Given the description of an element on the screen output the (x, y) to click on. 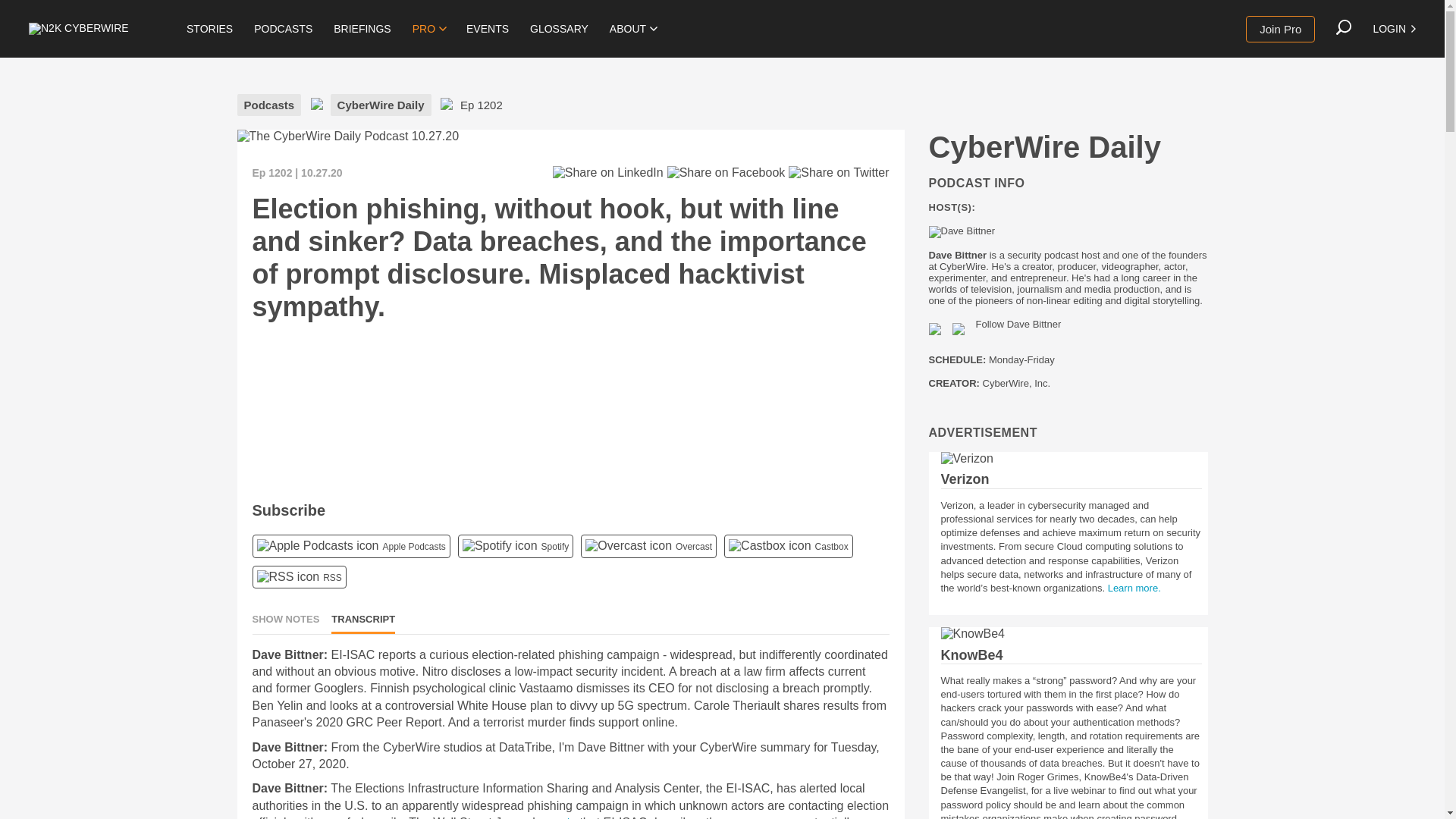
Apple Podcasts (317, 545)
GLOSSARY (558, 28)
Megaphone audio player. (478, 410)
Join Pro (1280, 28)
RSS (287, 576)
Overcast (628, 545)
BRIEFINGS (362, 28)
Castbox (769, 545)
STORIES (209, 28)
PODCASTS (283, 28)
Search the site (1343, 27)
EVENTS (487, 28)
Spotify (500, 545)
